Given the description of an element on the screen output the (x, y) to click on. 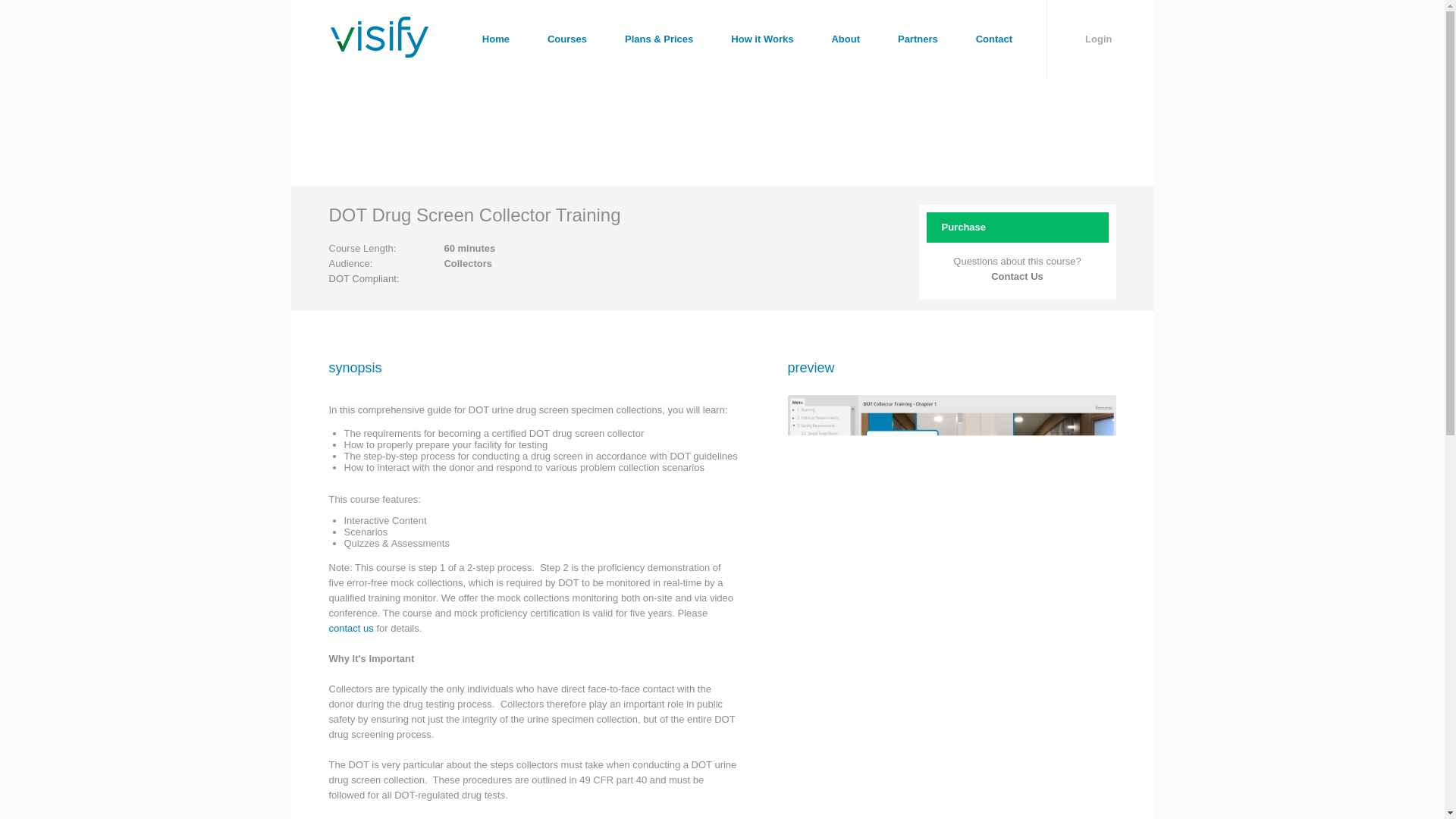
Login (1099, 39)
Partners (917, 39)
Courses (566, 39)
Contact Us (1017, 276)
Purchase (1017, 227)
How it Works (761, 39)
contact us (351, 627)
Contact (993, 39)
Visify Training (379, 50)
Login (1099, 39)
